Given the description of an element on the screen output the (x, y) to click on. 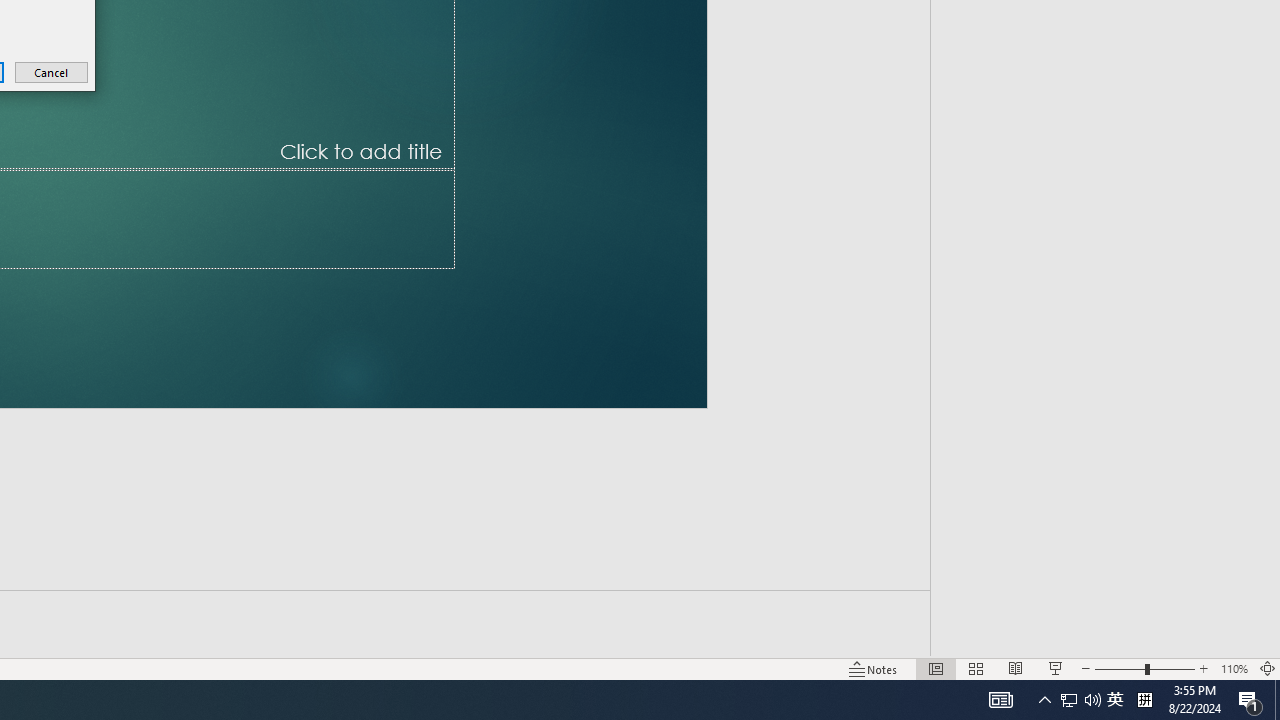
Zoom 110% (1234, 668)
